Given the description of an element on the screen output the (x, y) to click on. 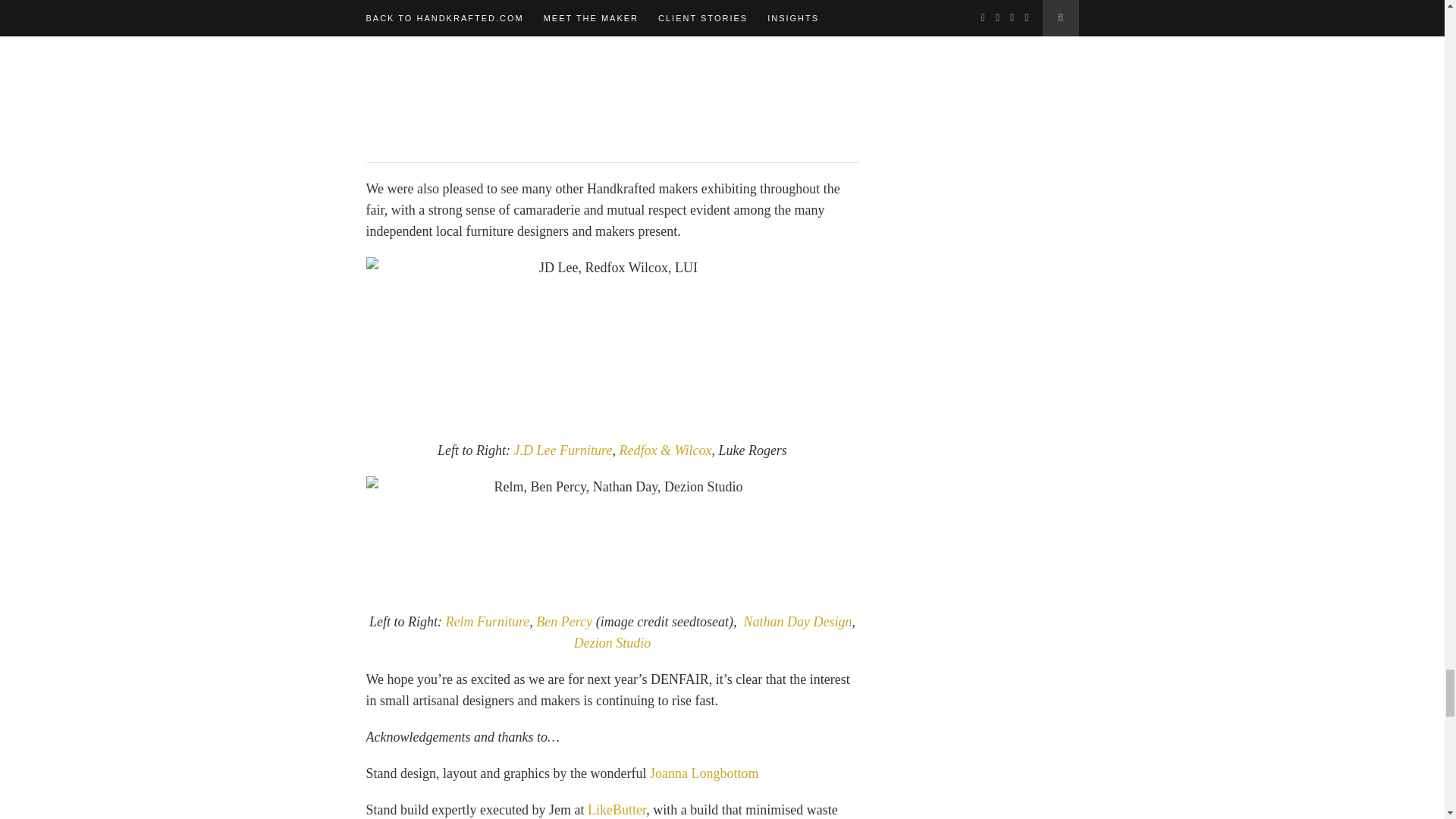
J.D Lee Furniture (562, 450)
Ben Percy (563, 621)
Relm Furniture (487, 621)
